Given the description of an element on the screen output the (x, y) to click on. 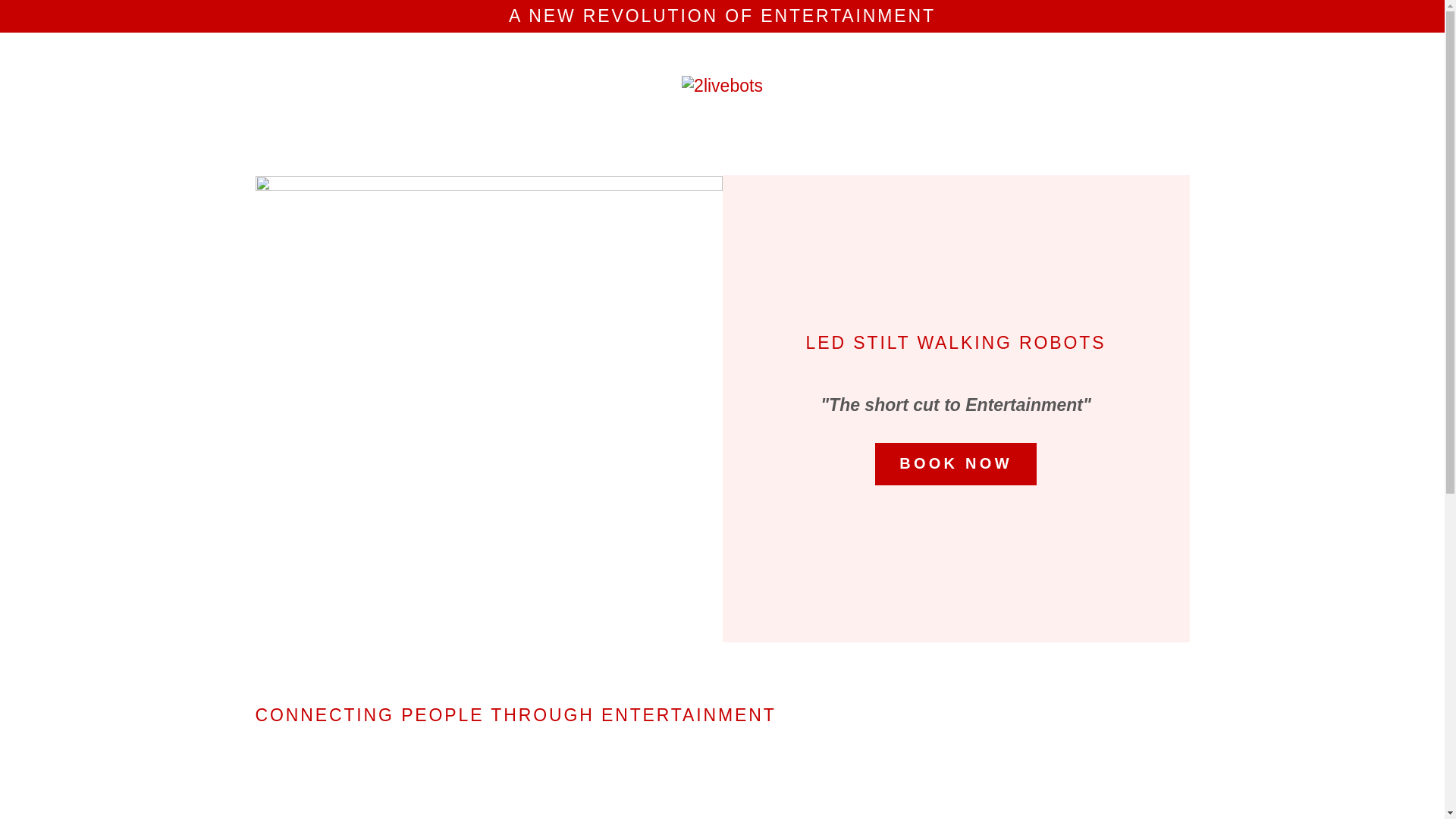
2livebots Element type: hover (721, 84)
BOOK NOW Element type: text (955, 463)
